Given the description of an element on the screen output the (x, y) to click on. 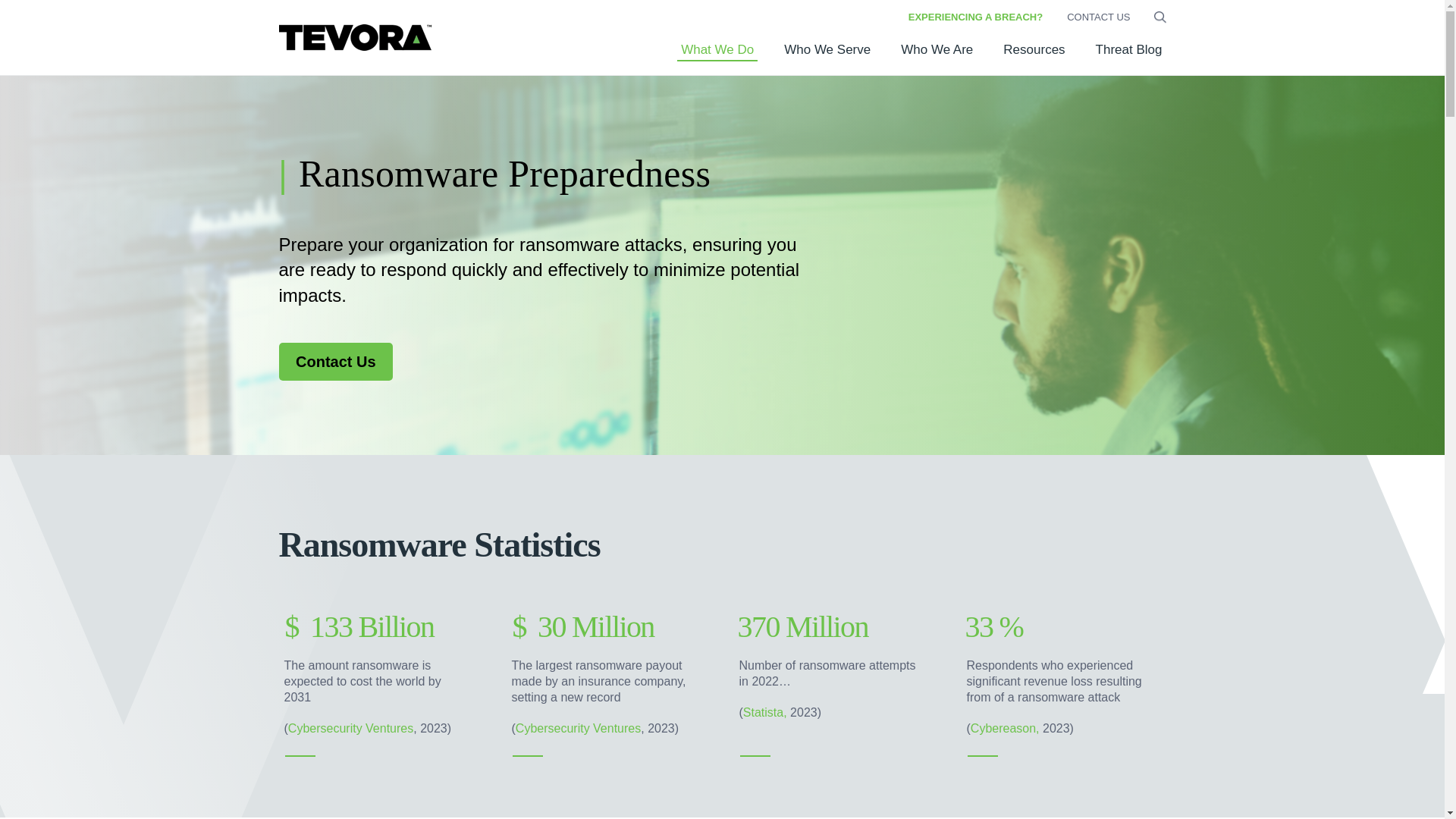
Search Icon (1160, 17)
EXPERIENCING A BREACH? (975, 16)
CONTACT US (1098, 16)
What We Do (717, 58)
Who We Serve (827, 58)
